Given the description of an element on the screen output the (x, y) to click on. 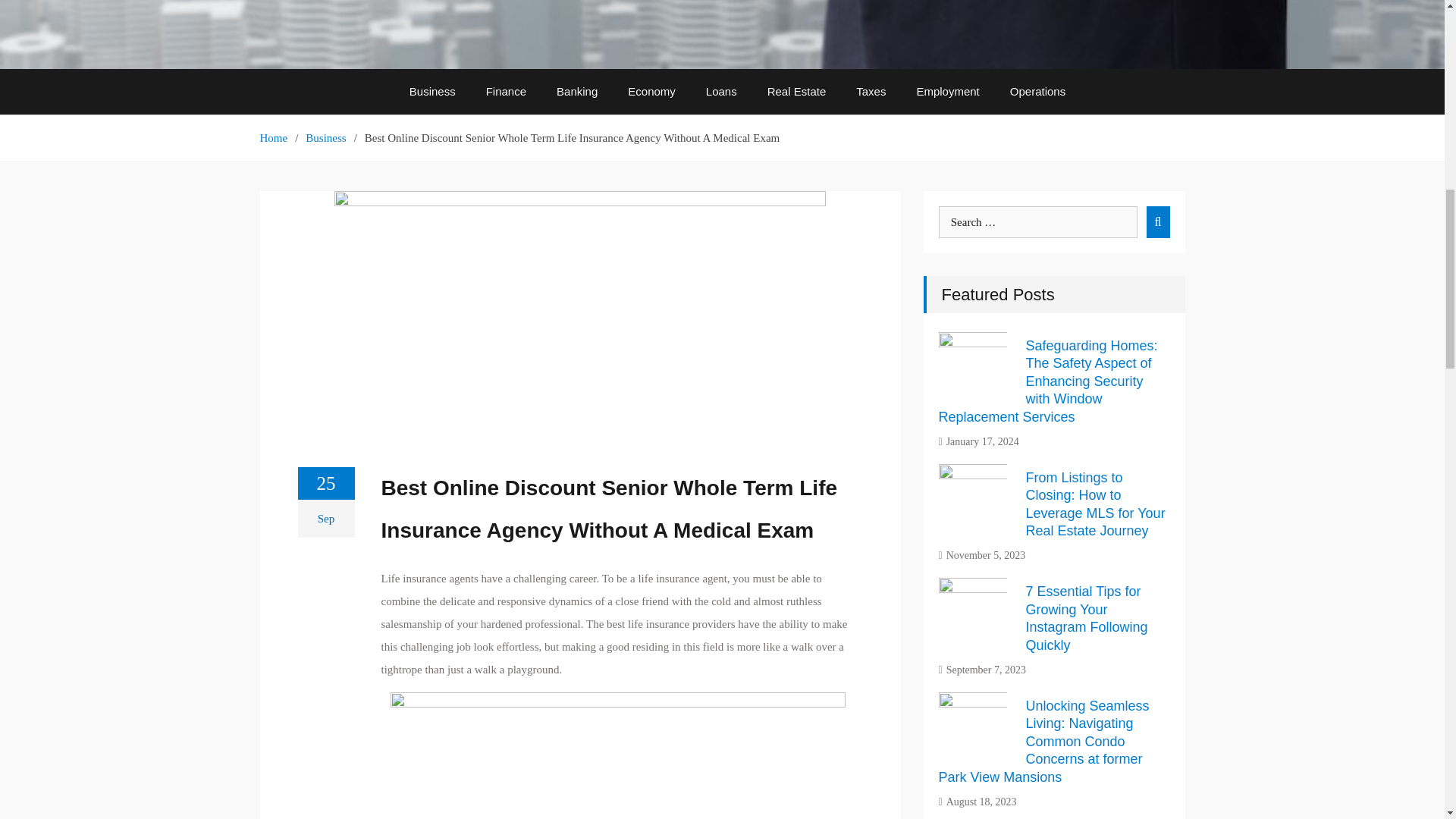
Employment (947, 91)
Finance (505, 91)
Taxes (871, 91)
Economy (651, 91)
Operations (1037, 91)
Banking (576, 91)
Loans (721, 91)
